Given the description of an element on the screen output the (x, y) to click on. 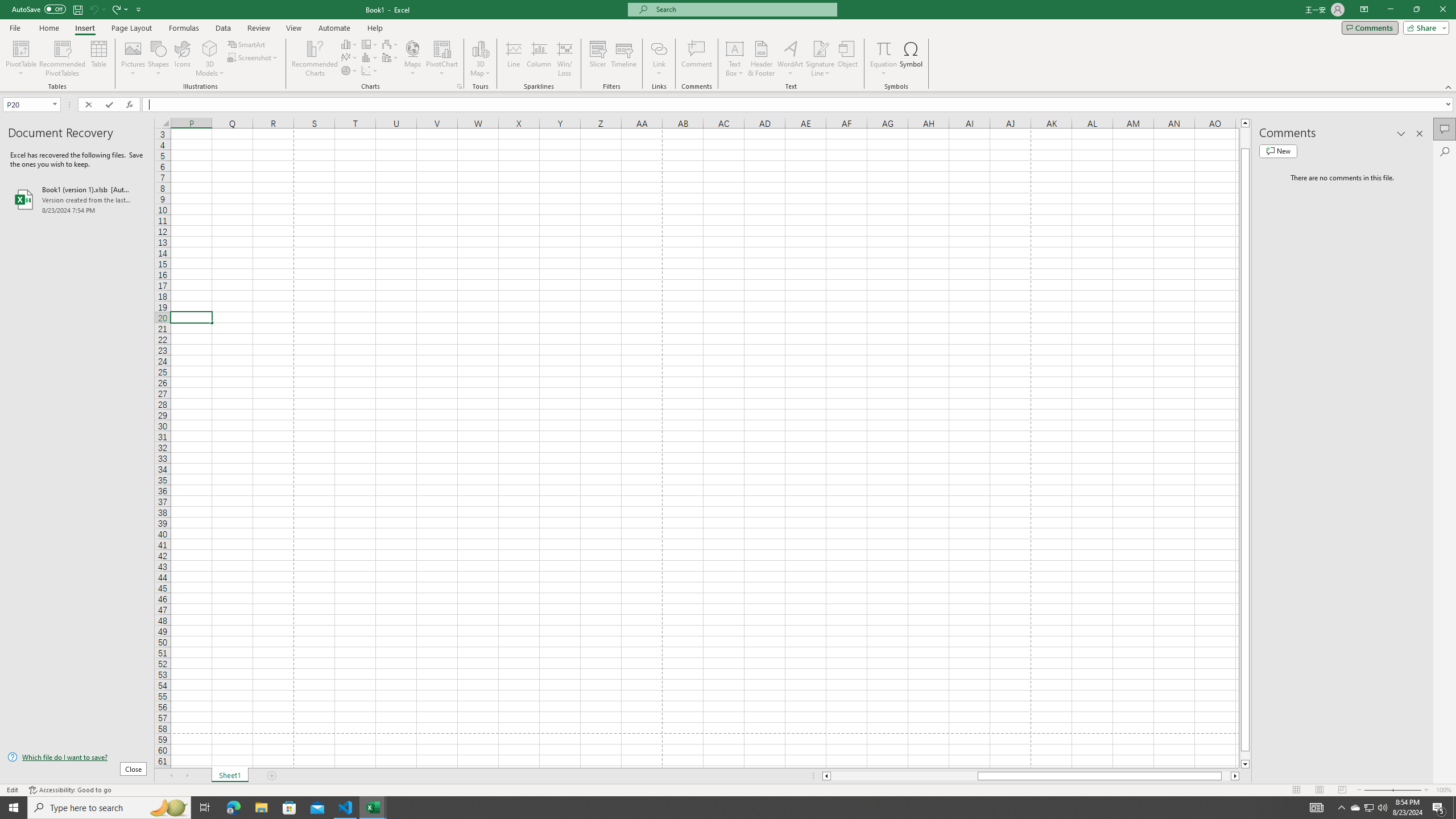
Header & Footer... (761, 58)
